Given the description of an element on the screen output the (x, y) to click on. 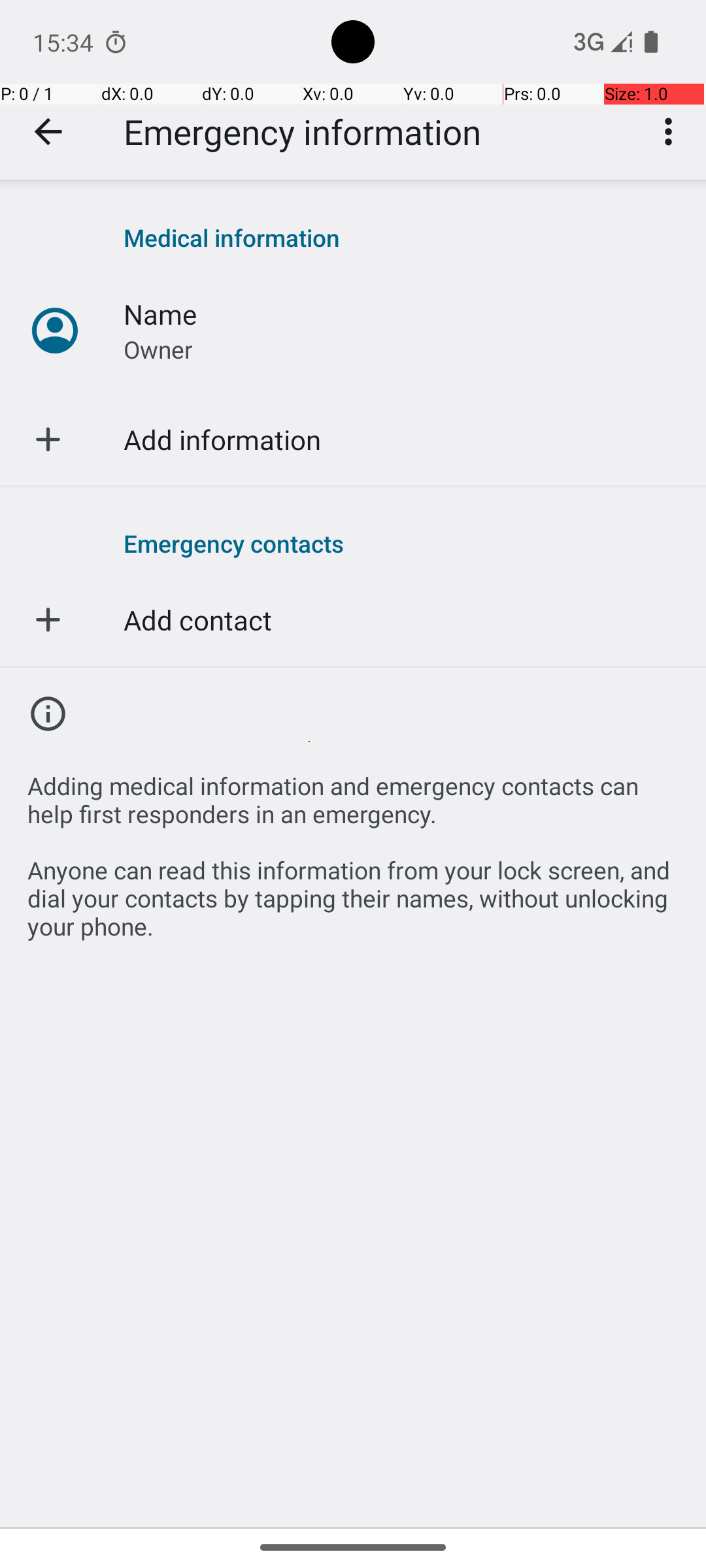
Emergency information Element type: android.widget.TextView (302, 131)
Medical information Element type: android.widget.TextView (400, 237)
Owner Element type: android.widget.TextView (157, 348)
Add information Element type: android.widget.TextView (221, 438)
Emergency contacts Element type: android.widget.TextView (400, 542)
Add contact Element type: android.widget.TextView (197, 619)
Adding medical information and emergency contacts can help first responders in an emergency.

Anyone can read this information from your lock screen, and dial your contacts by tapping their names, without unlocking your phone. Element type: android.widget.TextView (352, 848)
